Given the description of an element on the screen output the (x, y) to click on. 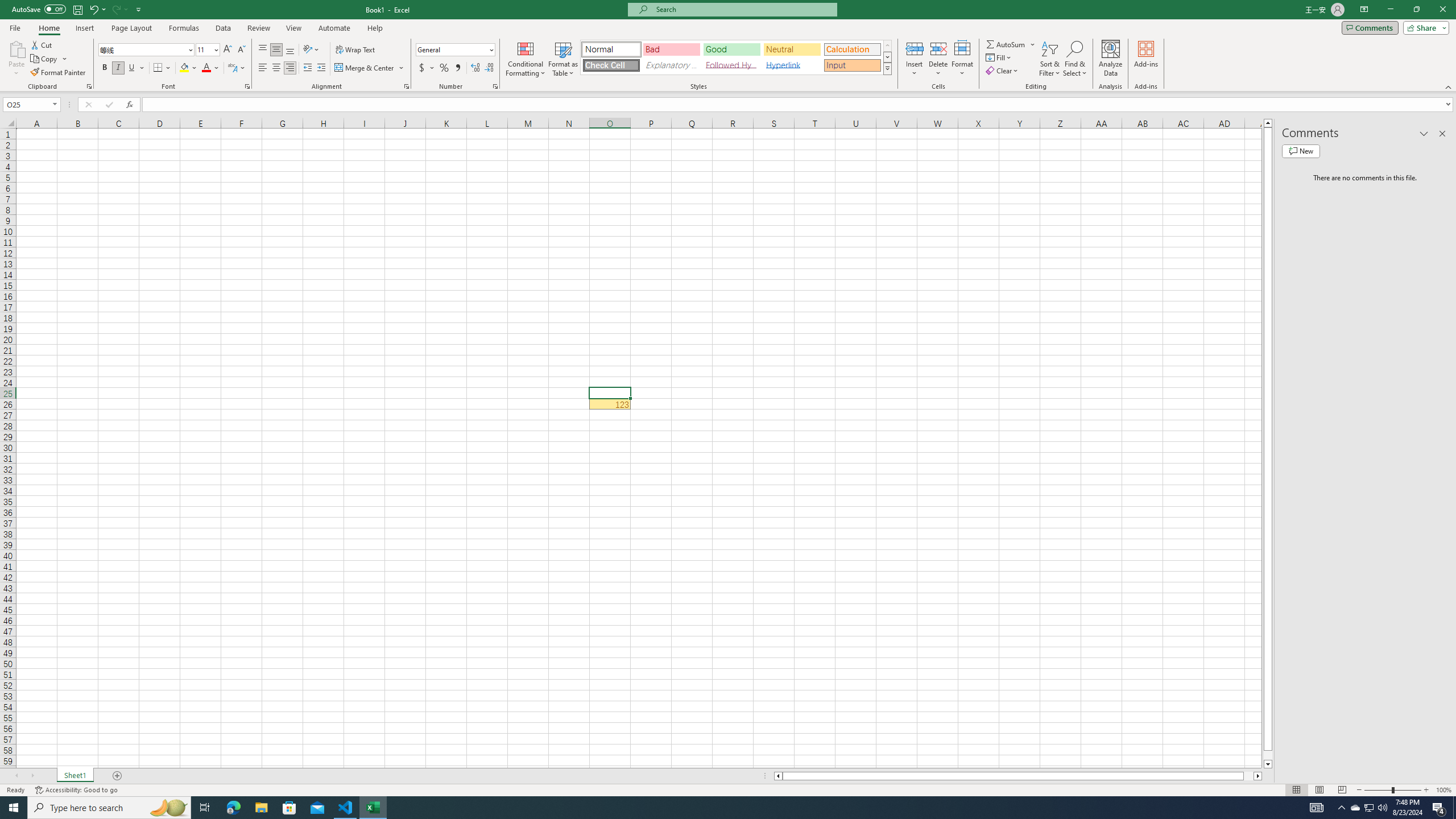
Paste (16, 58)
Delete Cells... (938, 48)
AutoSave (38, 9)
Sum (1006, 44)
Restore Down (1416, 9)
Italic (118, 67)
Number Format (455, 49)
Fill Color RGB(255, 255, 0) (183, 67)
Copy (49, 58)
Format Cell Number (494, 85)
